Given the description of an element on the screen output the (x, y) to click on. 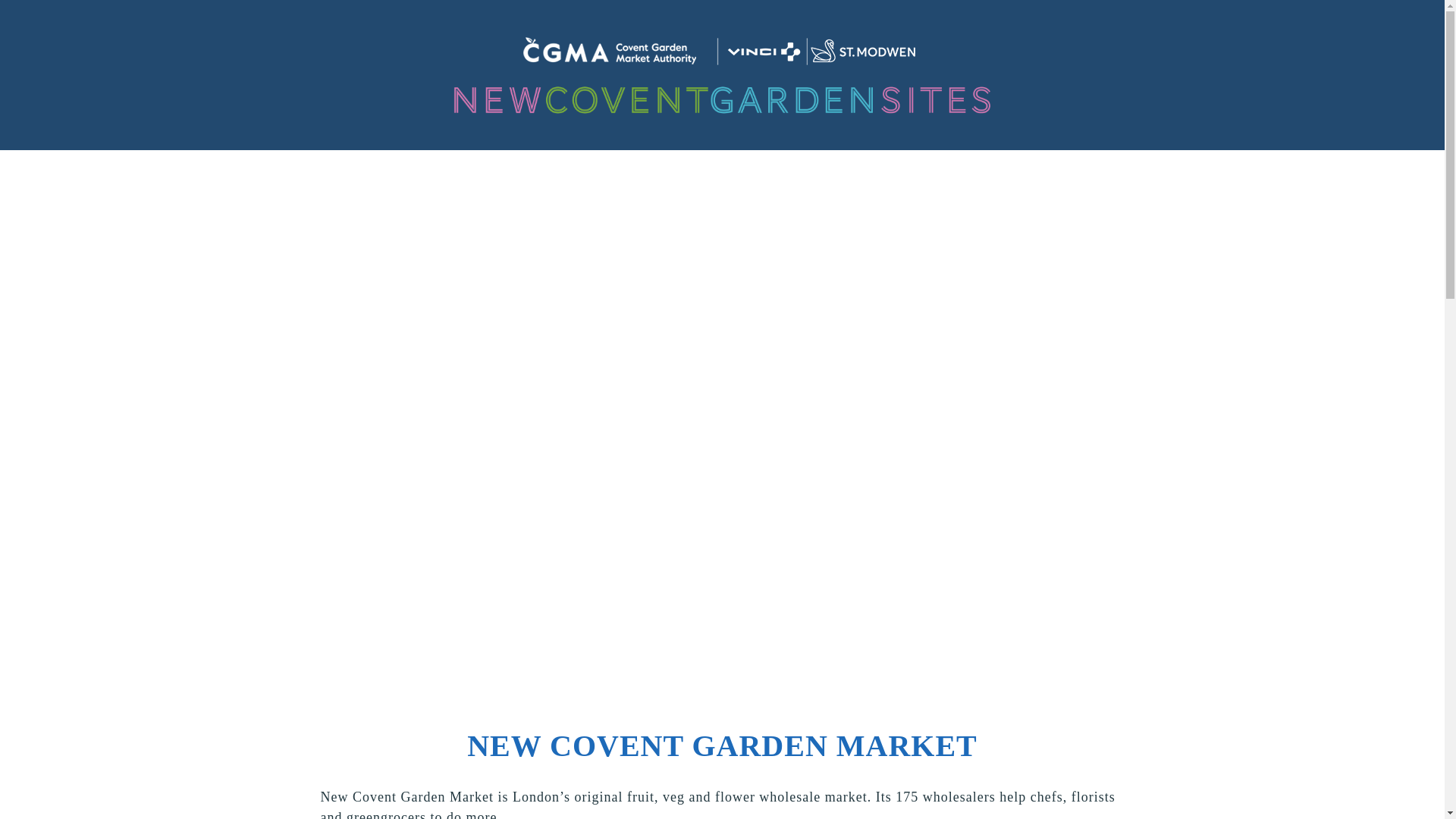
Contact (1049, 185)
Sites (465, 185)
Development (676, 185)
Merchants Way (560, 185)
Market (873, 185)
Project (394, 185)
Community (782, 185)
Nine Elms (959, 185)
